Given the description of an element on the screen output the (x, y) to click on. 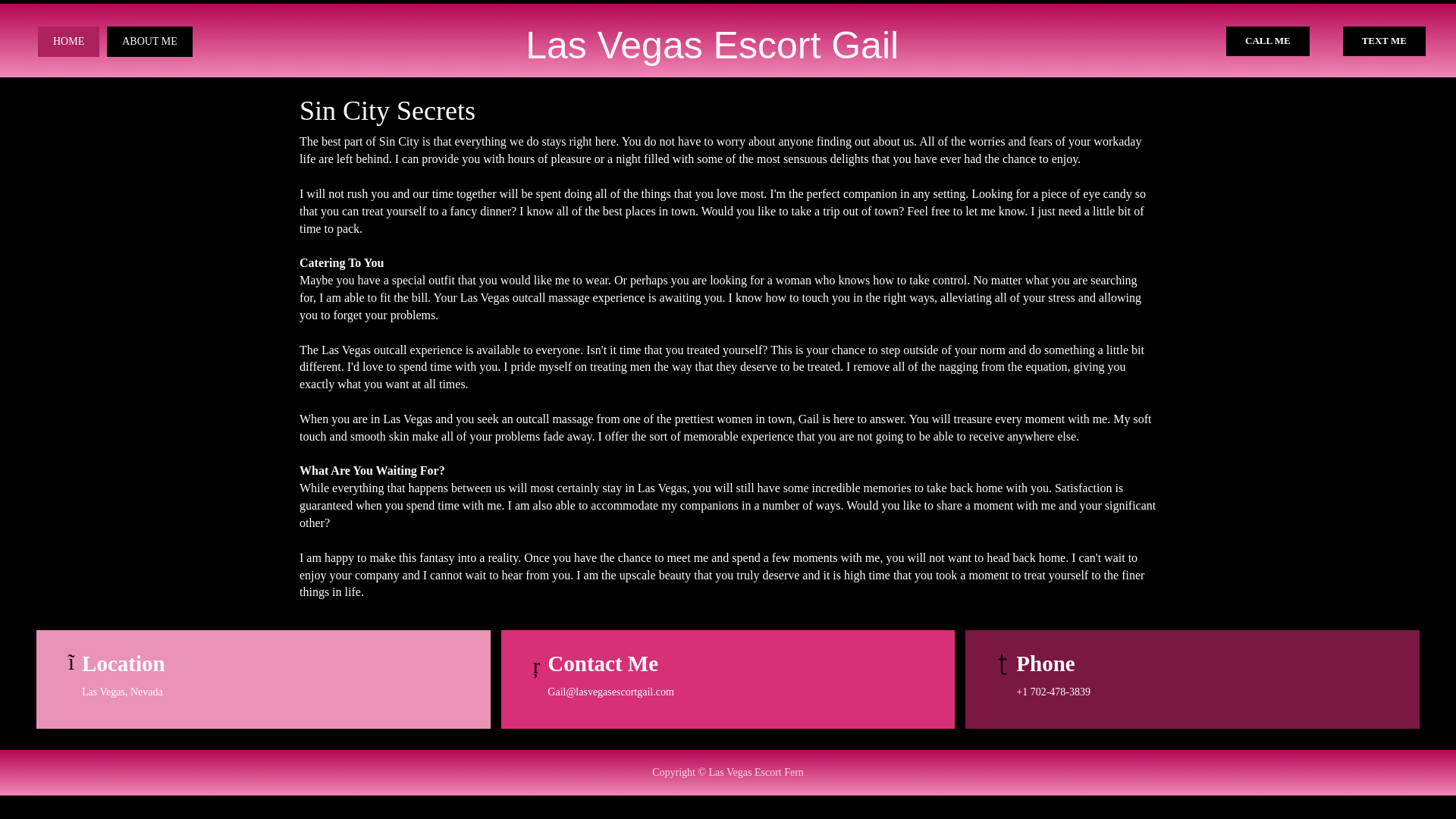
HOME (68, 41)
ABOUT ME (149, 41)
TEXT ME (1383, 41)
CALL ME (1266, 41)
